Given the description of an element on the screen output the (x, y) to click on. 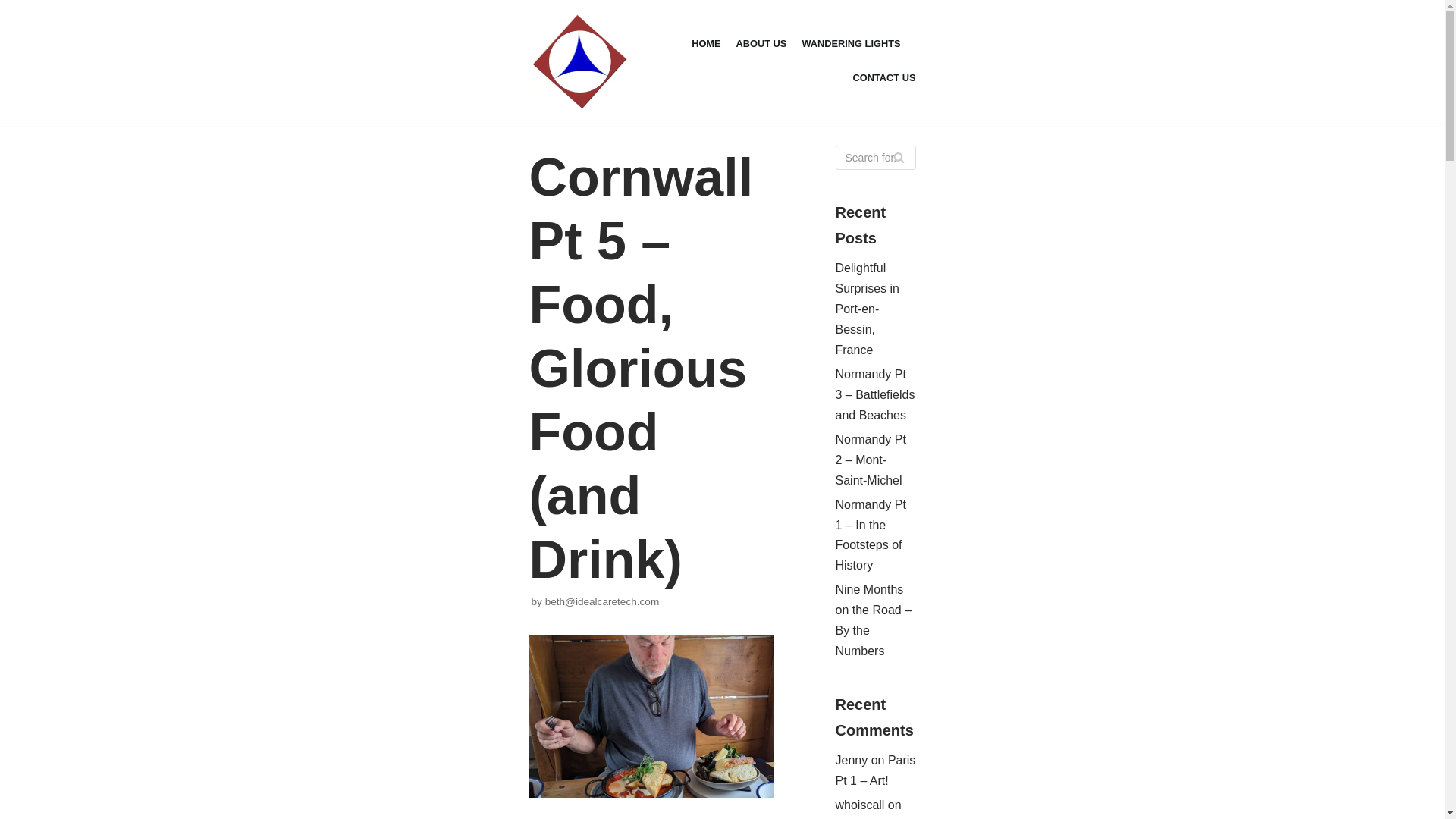
CONTACT US (884, 77)
ABOUT US (761, 44)
Skip to content (15, 7)
HOME (705, 44)
Ideal Care Technologies (578, 60)
whoiscall (860, 804)
WANDERING LIGHTS (850, 44)
